Given the description of an element on the screen output the (x, y) to click on. 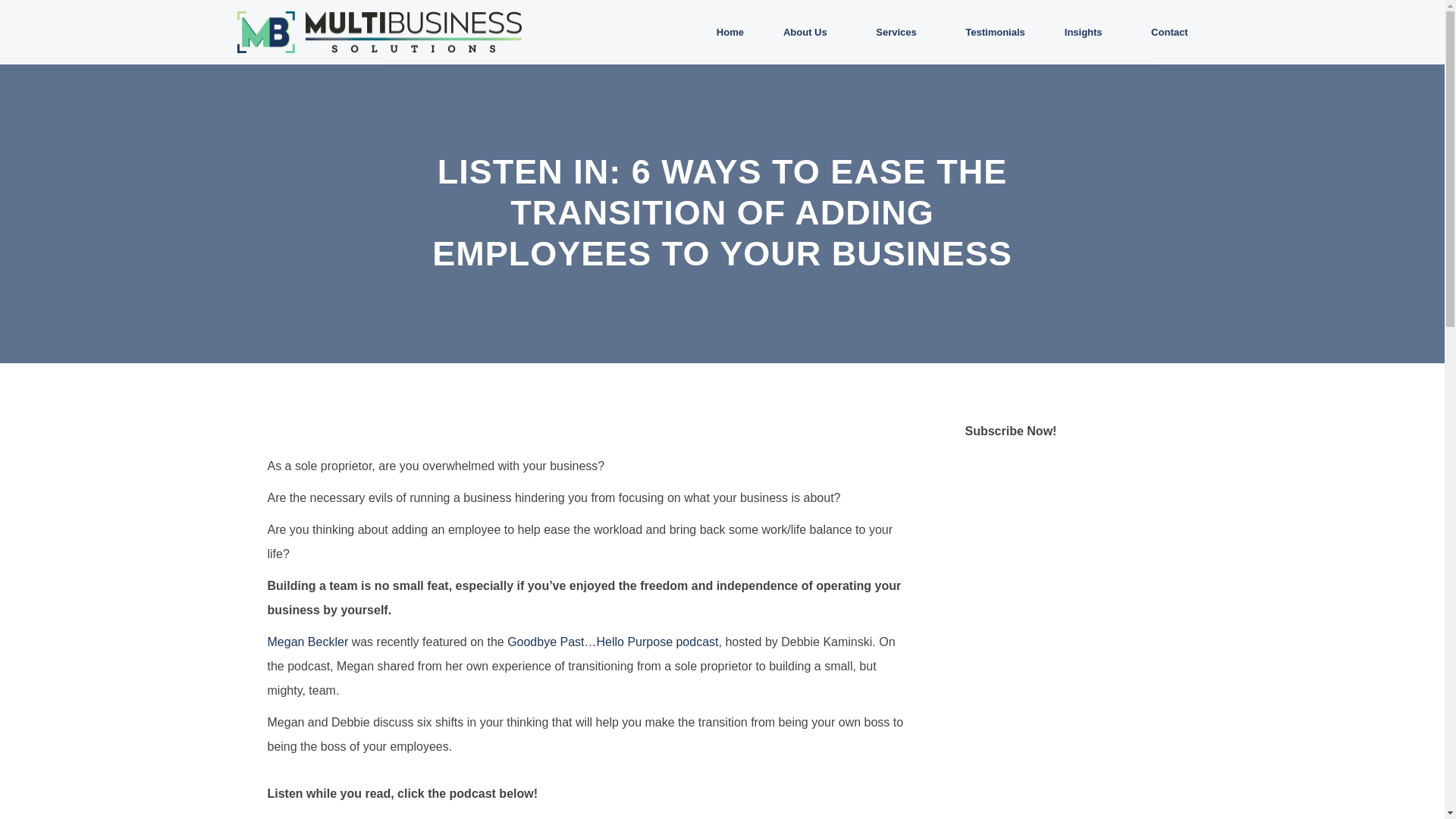
Testimonials (994, 31)
About Us (809, 31)
Insights (1088, 31)
Multi Business Solutions (312, 59)
Contact (1169, 31)
Services (900, 31)
Home (729, 31)
Megan Beckler (306, 641)
